Given the description of an element on the screen output the (x, y) to click on. 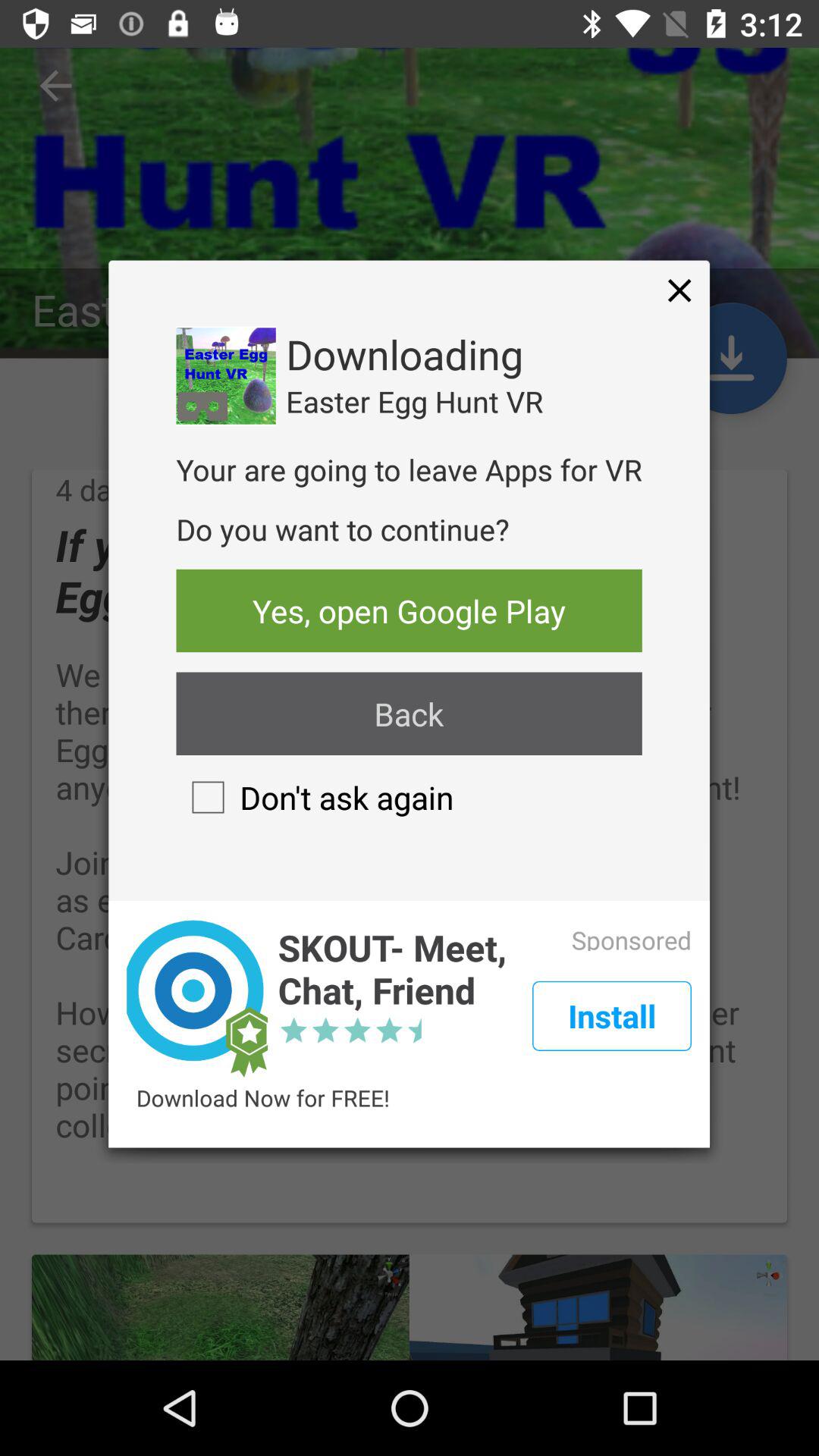
turn on the item next to the skout meet chat item (611, 1016)
